Given the description of an element on the screen output the (x, y) to click on. 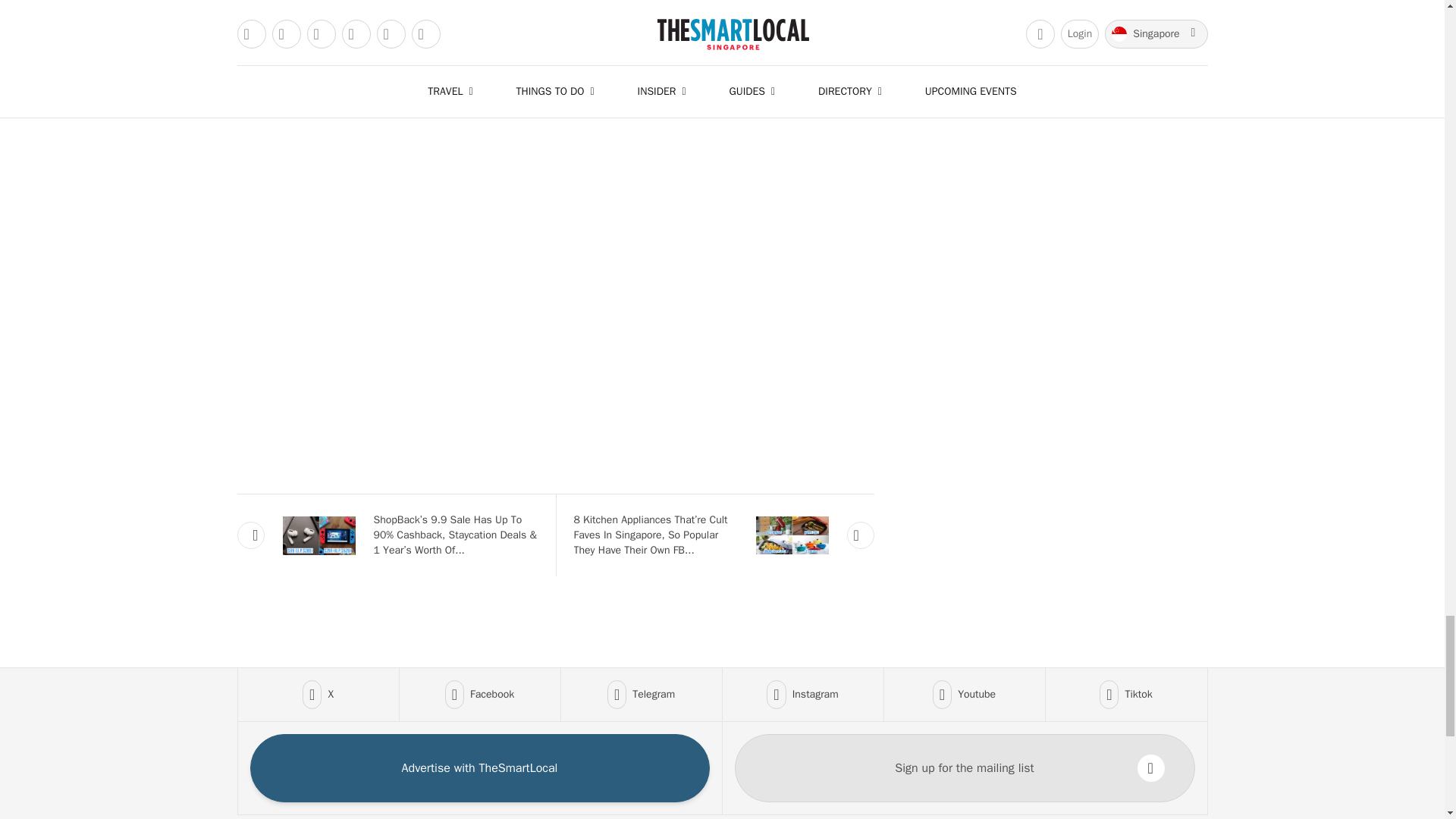
subscribe (1150, 768)
subscribe (554, 14)
